Given the description of an element on the screen output the (x, y) to click on. 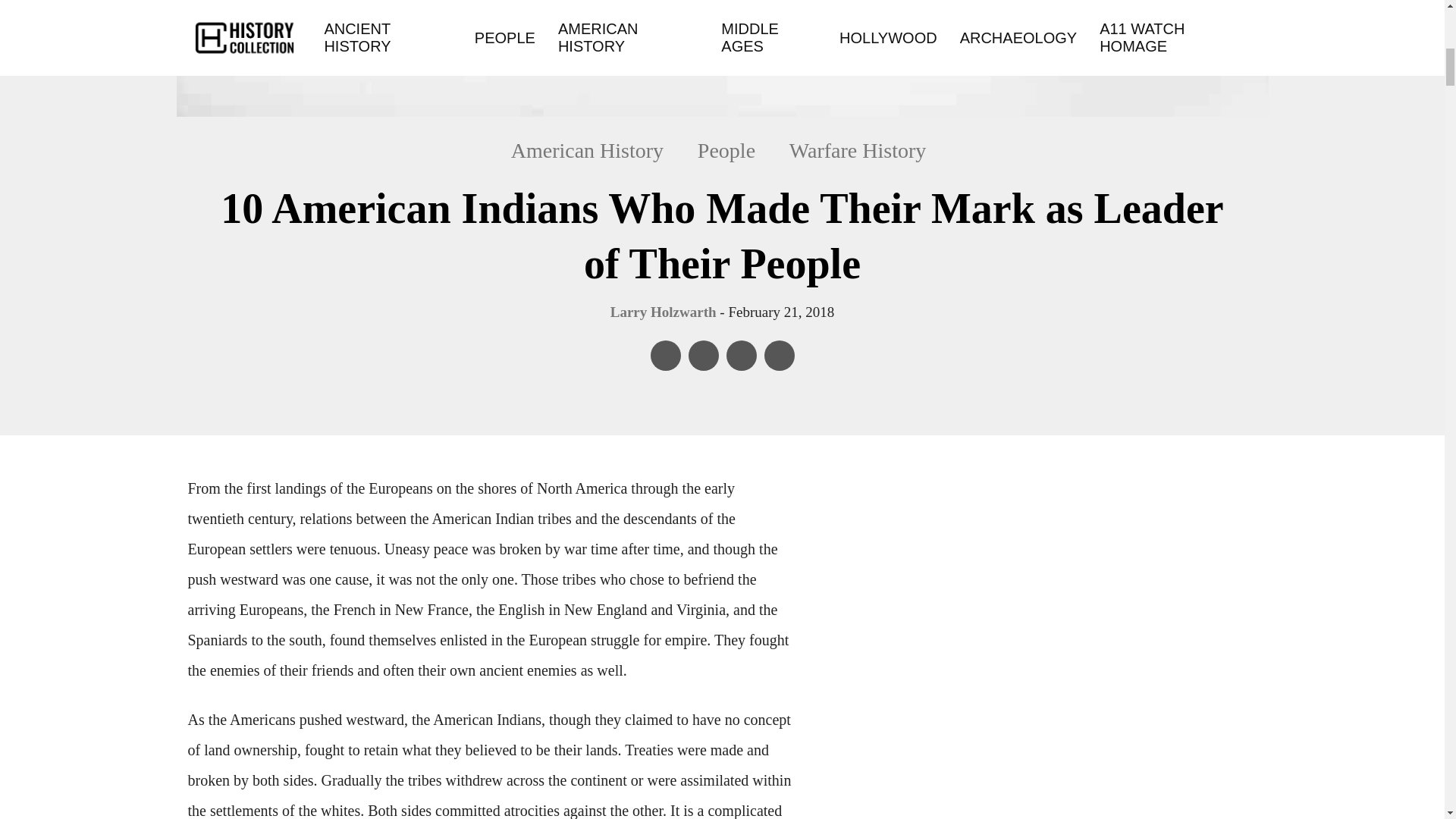
American History (594, 150)
Larry Holzwarth (663, 311)
People (726, 150)
Warfare History (857, 150)
